Given the description of an element on the screen output the (x, y) to click on. 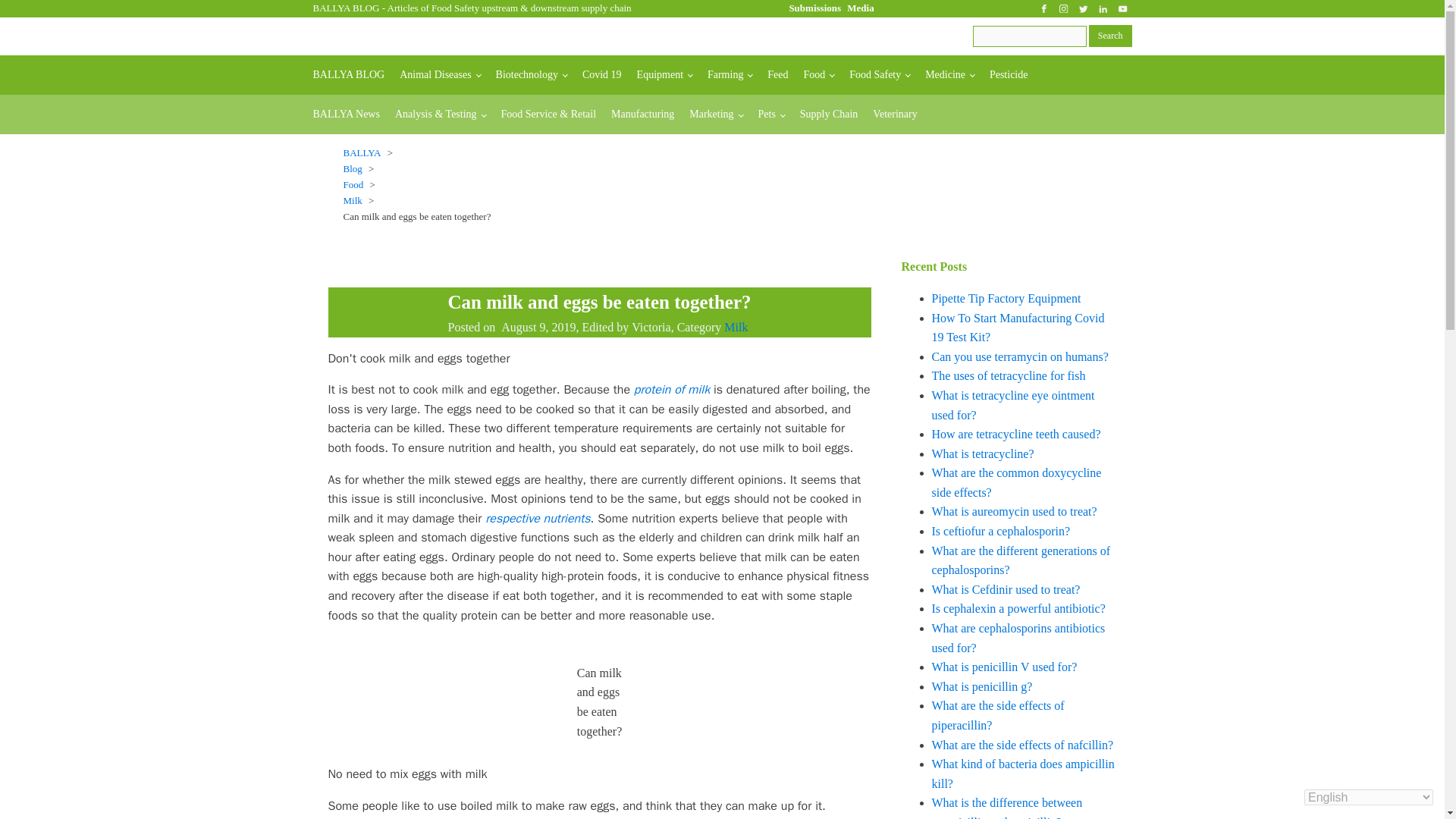
Animal Diseases (439, 75)
Covid 19 (601, 75)
Equipment (664, 75)
Submissions (815, 7)
Media (860, 7)
BALLYA BLOG (347, 75)
Search (1110, 35)
Food (819, 75)
Biotechnology (531, 75)
Search (1110, 35)
BALLYA BLOG (345, 7)
Feed (777, 75)
Farming (730, 75)
Food Safety (879, 75)
